Given the description of an element on the screen output the (x, y) to click on. 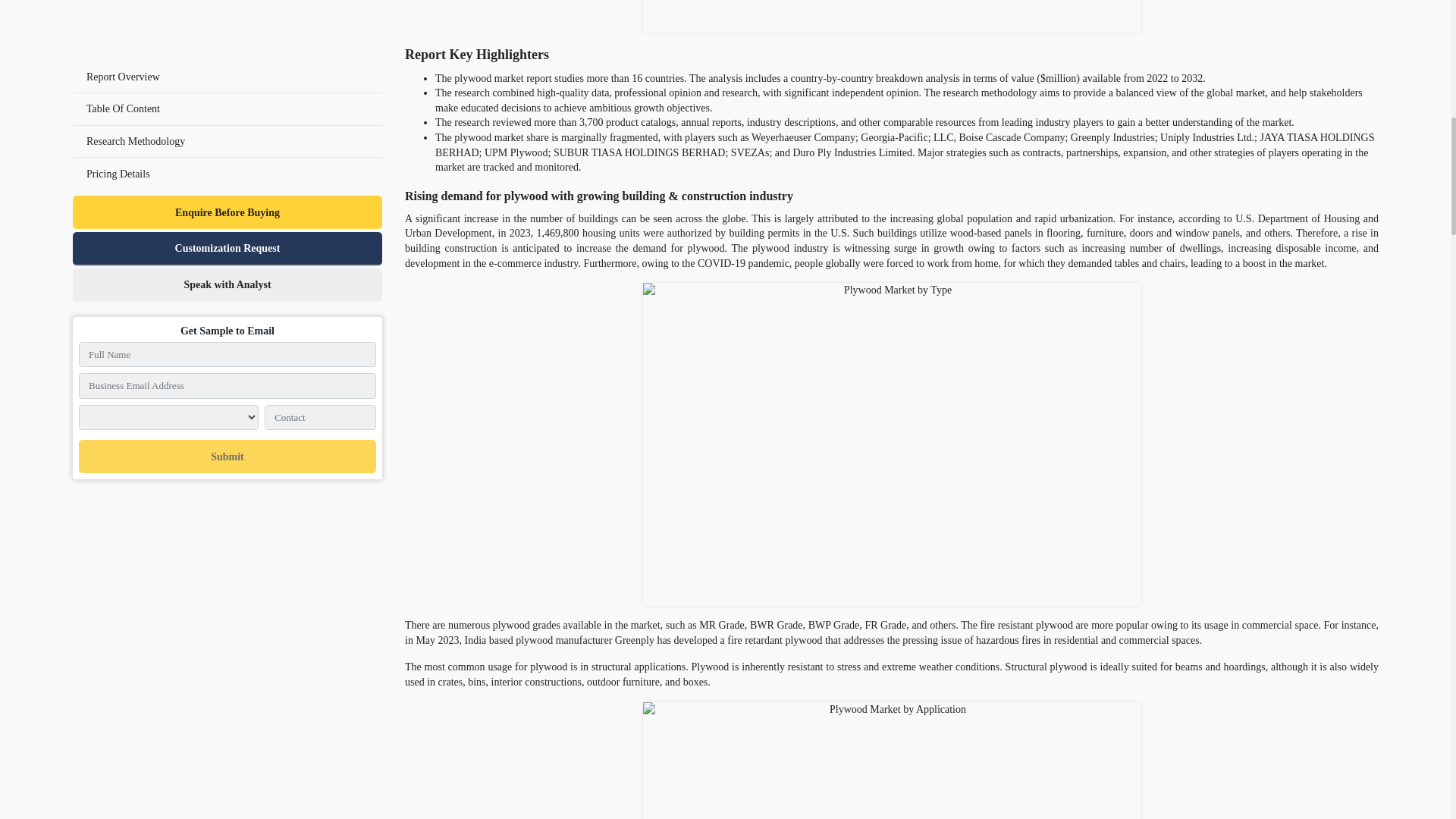
Submit (226, 26)
Plywood Market by Application (892, 760)
